Given the description of an element on the screen output the (x, y) to click on. 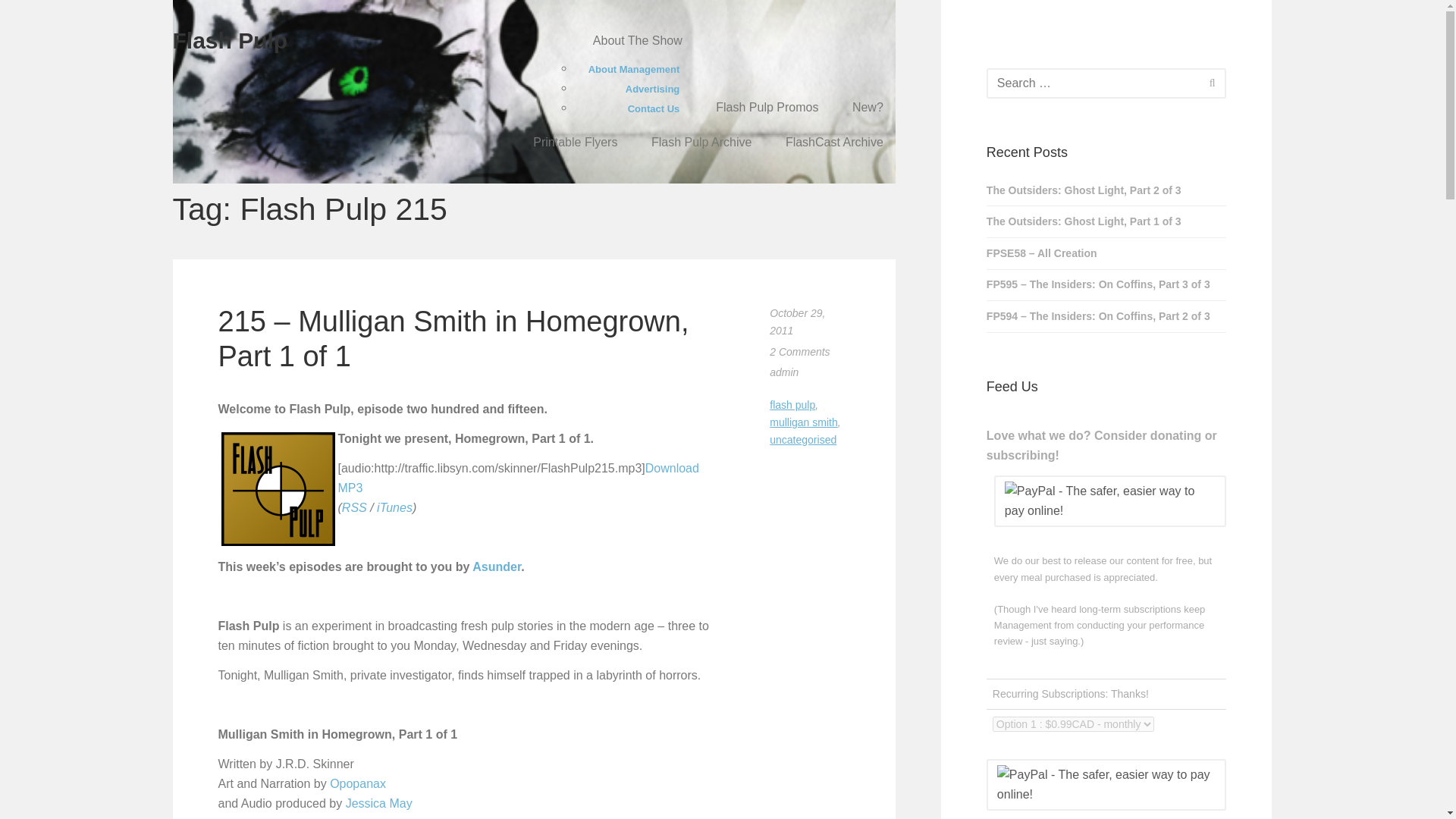
The Outsiders: Ghost Light, Part 1 of 3 (1107, 221)
Flash Pulp Promos (766, 107)
Search (1211, 81)
Download MP3 (517, 477)
2 Comments (799, 351)
About Management (633, 67)
The Outsiders: Ghost Light, Part 2 of 3 (1107, 190)
Flash Pulp Archive (701, 142)
Search (1211, 81)
iTunes (394, 507)
mulligan smith (803, 422)
Printable Flyers (574, 142)
October 29, 2011 (797, 321)
Opopanax (357, 783)
New? (868, 107)
